Given the description of an element on the screen output the (x, y) to click on. 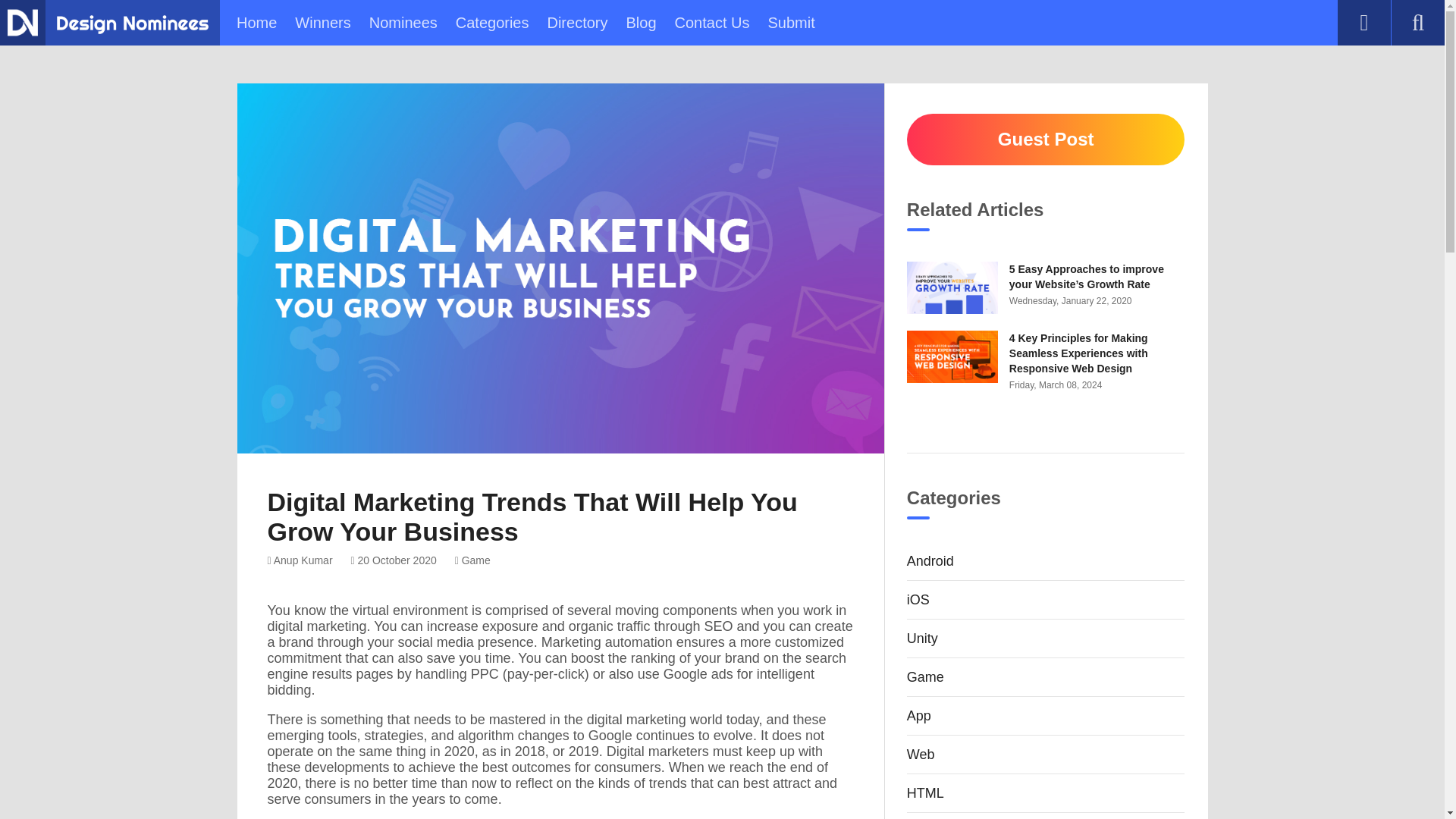
Game (472, 560)
Contact Us (712, 22)
Nominees (403, 22)
Anup Kumar (298, 560)
Design Nominees (132, 24)
Submit (790, 22)
Guest Post (1046, 139)
Categories (492, 22)
Design Nominees (22, 22)
Directory (577, 22)
Winners (322, 22)
